Given the description of an element on the screen output the (x, y) to click on. 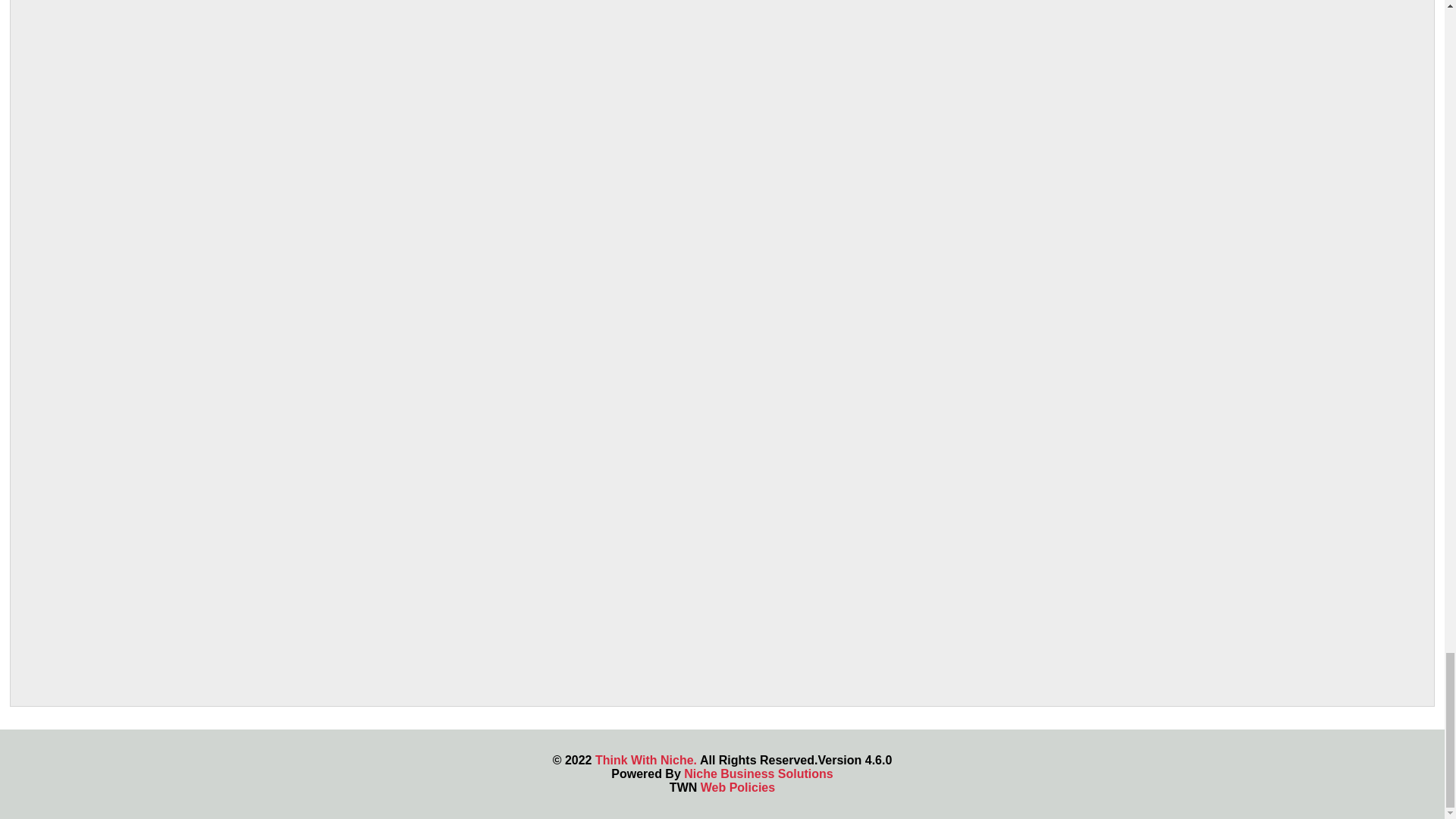
Web Policies (737, 787)
Niche Business Solutions (758, 773)
Think With Niche. (646, 759)
